Given the description of an element on the screen output the (x, y) to click on. 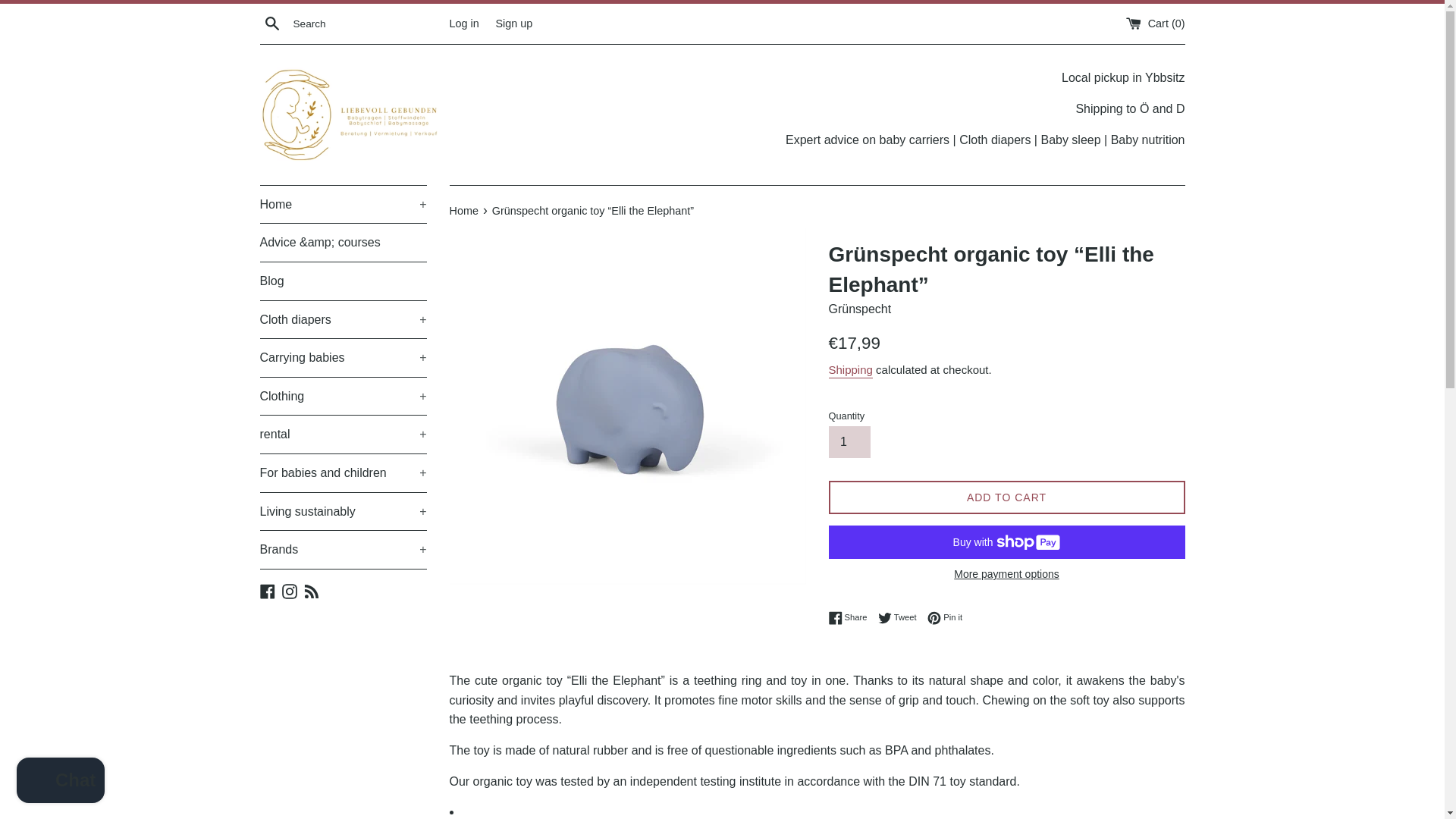
Back to the frontpage (464, 210)
Search (271, 22)
1 (848, 441)
Tweet on Twitter (900, 617)
Sign up (513, 22)
Shopify online store chat (60, 781)
Liebevoll gebunden on Instagram (289, 590)
Blog (342, 281)
Log in (463, 22)
Liebevoll gebunden on Facebook (267, 590)
